Given the description of an element on the screen output the (x, y) to click on. 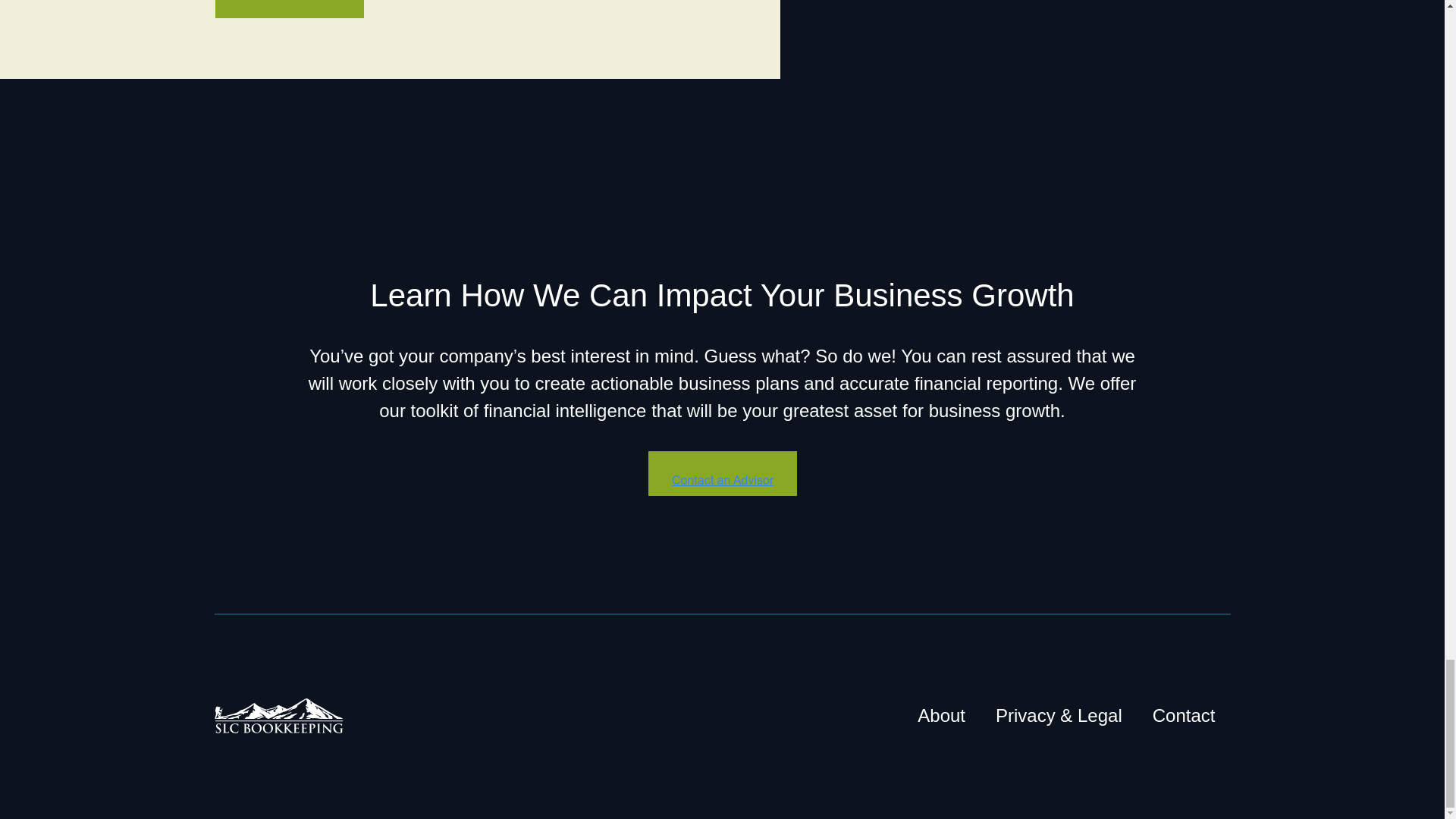
Contact (1183, 715)
footer-logo (278, 715)
Learn more (289, 9)
About (940, 715)
